Given the description of an element on the screen output the (x, y) to click on. 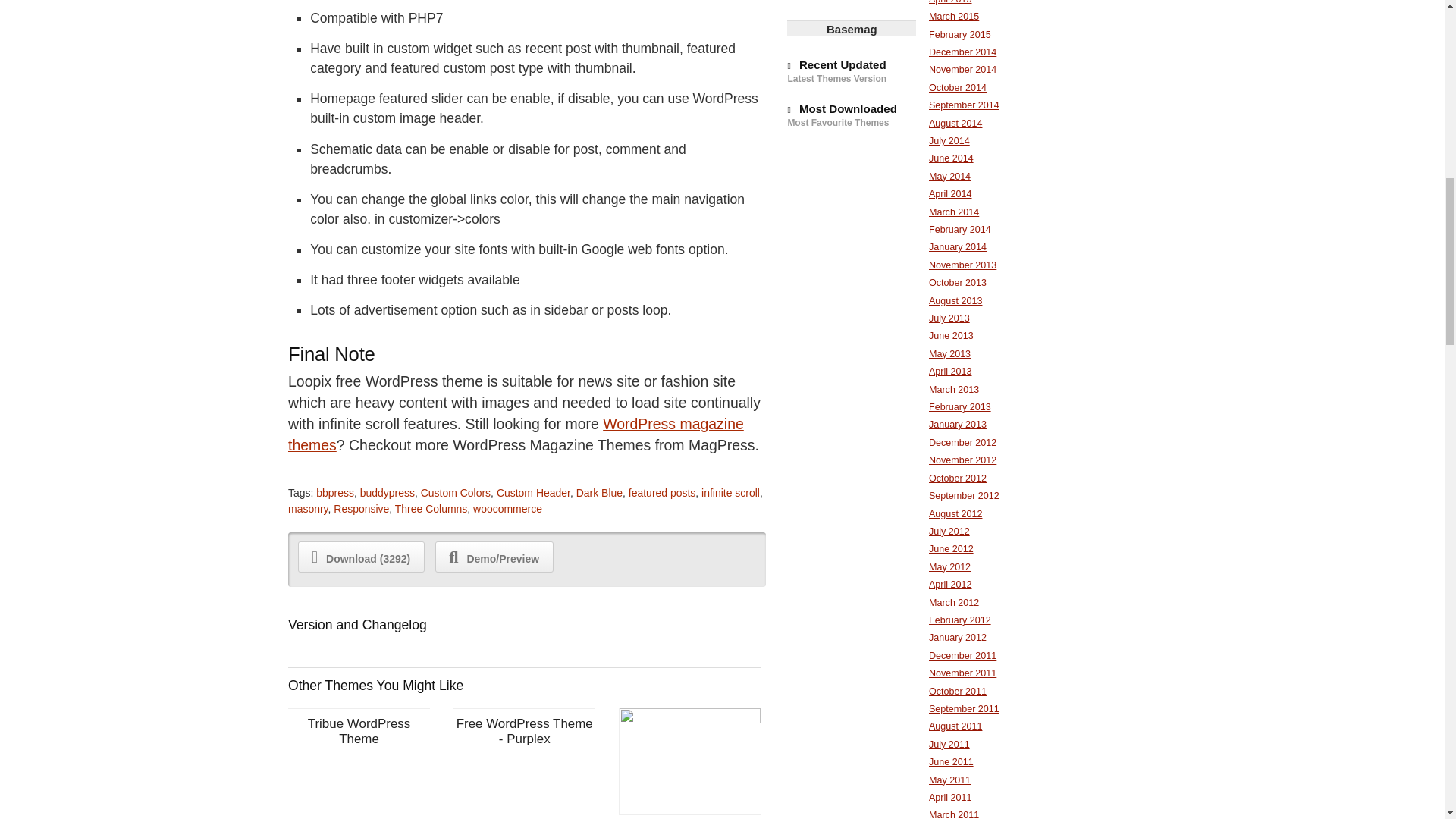
WordPress magazine themes (516, 434)
infinite scroll (730, 492)
Custom Colors (455, 492)
Dark Blue (599, 492)
bbpress (334, 492)
buddypress (386, 492)
Free WordPress Theme - Purplex (524, 731)
featured posts (661, 492)
Responsive (360, 508)
Custom Header (533, 492)
Tribue WordPress Theme (358, 731)
masonry (308, 508)
Three Columns (430, 508)
woocommerce (507, 508)
